Given the description of an element on the screen output the (x, y) to click on. 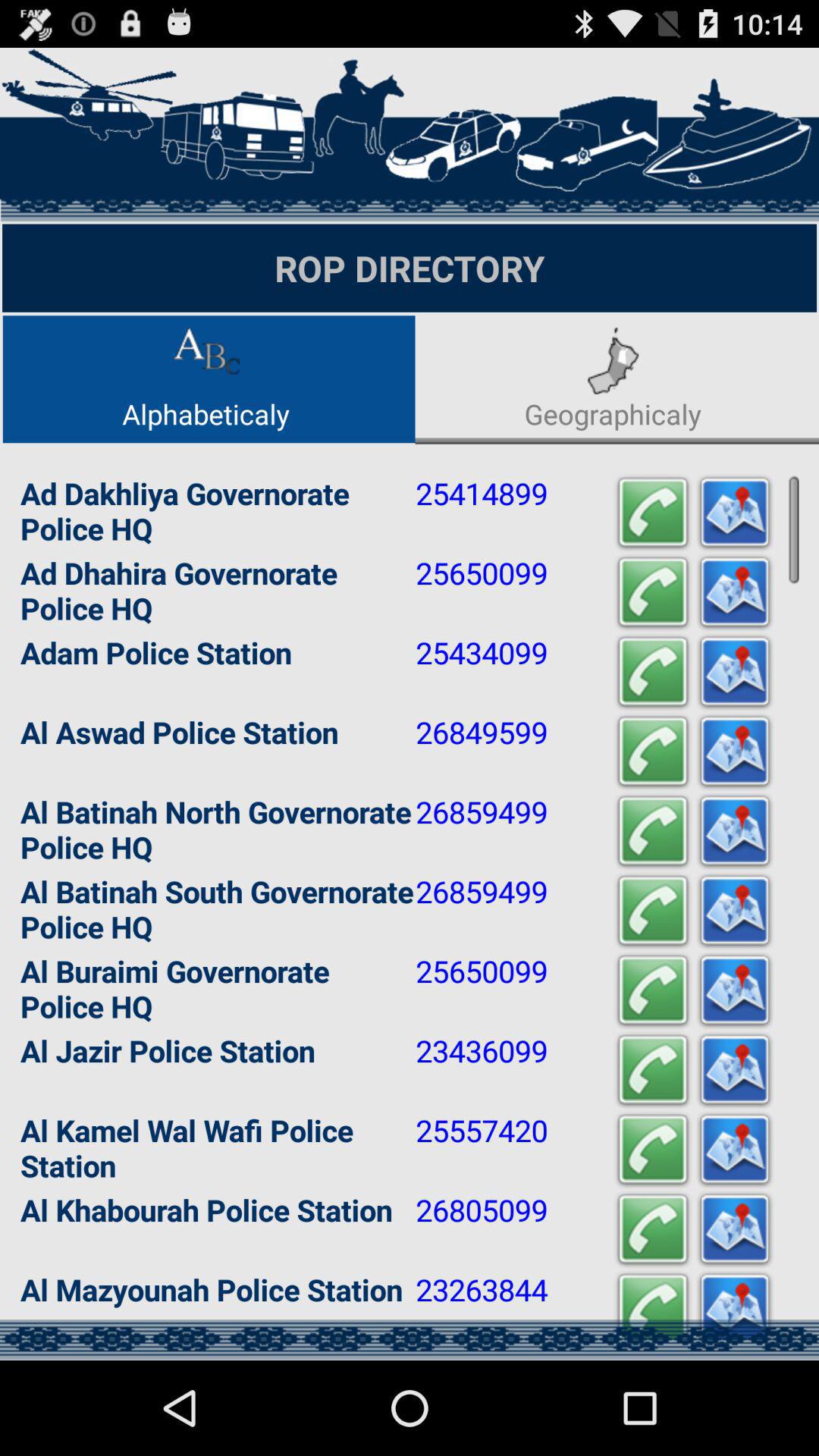
select the item above 25434099 item (652, 592)
